Given the description of an element on the screen output the (x, y) to click on. 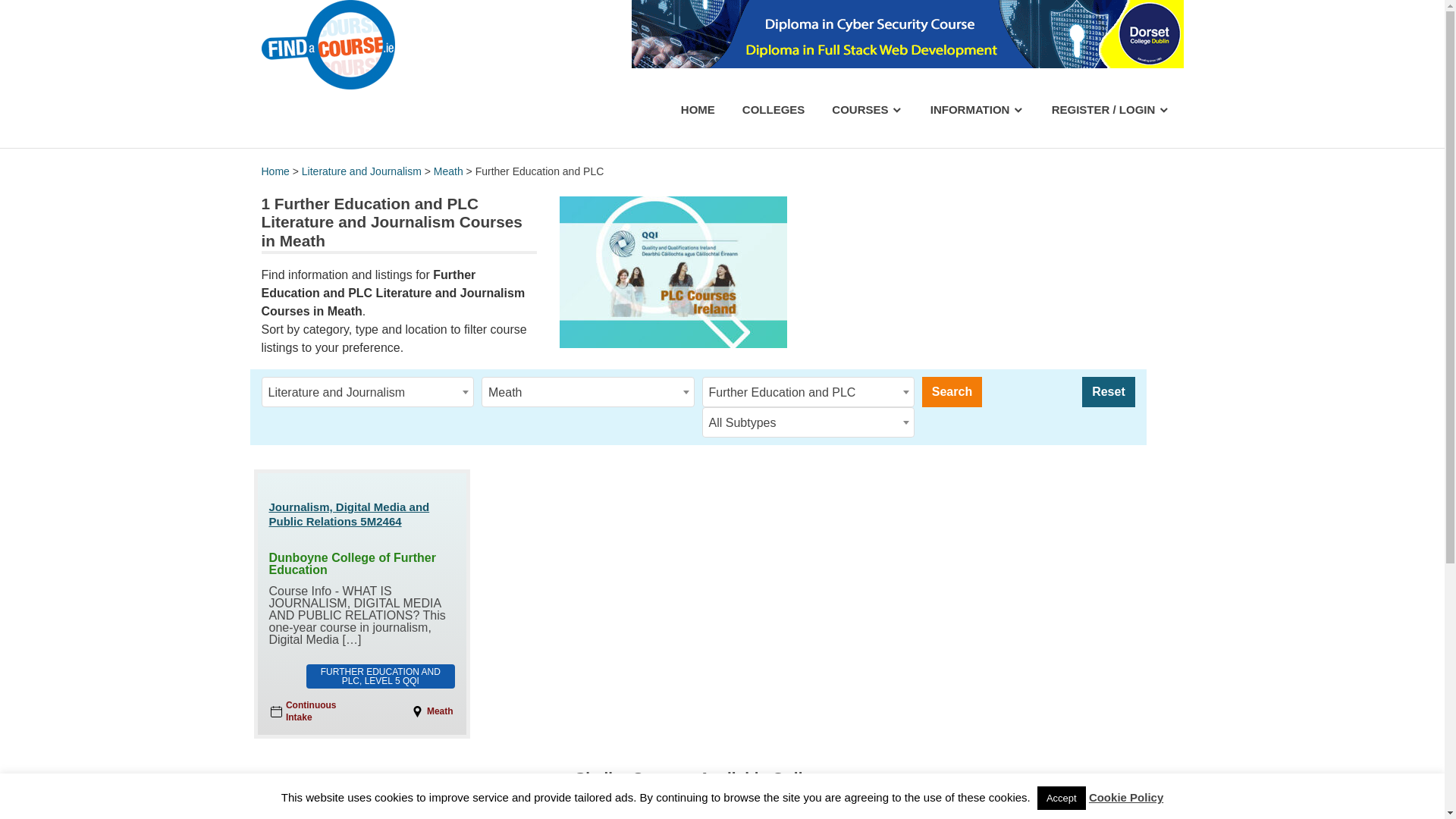
Reset (1107, 391)
Further Education and PLC (807, 392)
Journalism, Digital Media and Public Relations 5M2464 (360, 513)
All Subtypes (807, 422)
Meath (448, 171)
Literature and Journalism (361, 171)
Search (951, 391)
Home (274, 171)
COLLEGES (773, 109)
COURSES (866, 109)
INFORMATION (977, 109)
Meath (587, 392)
HOME (697, 109)
Literature and Journalism (368, 392)
